Given the description of an element on the screen output the (x, y) to click on. 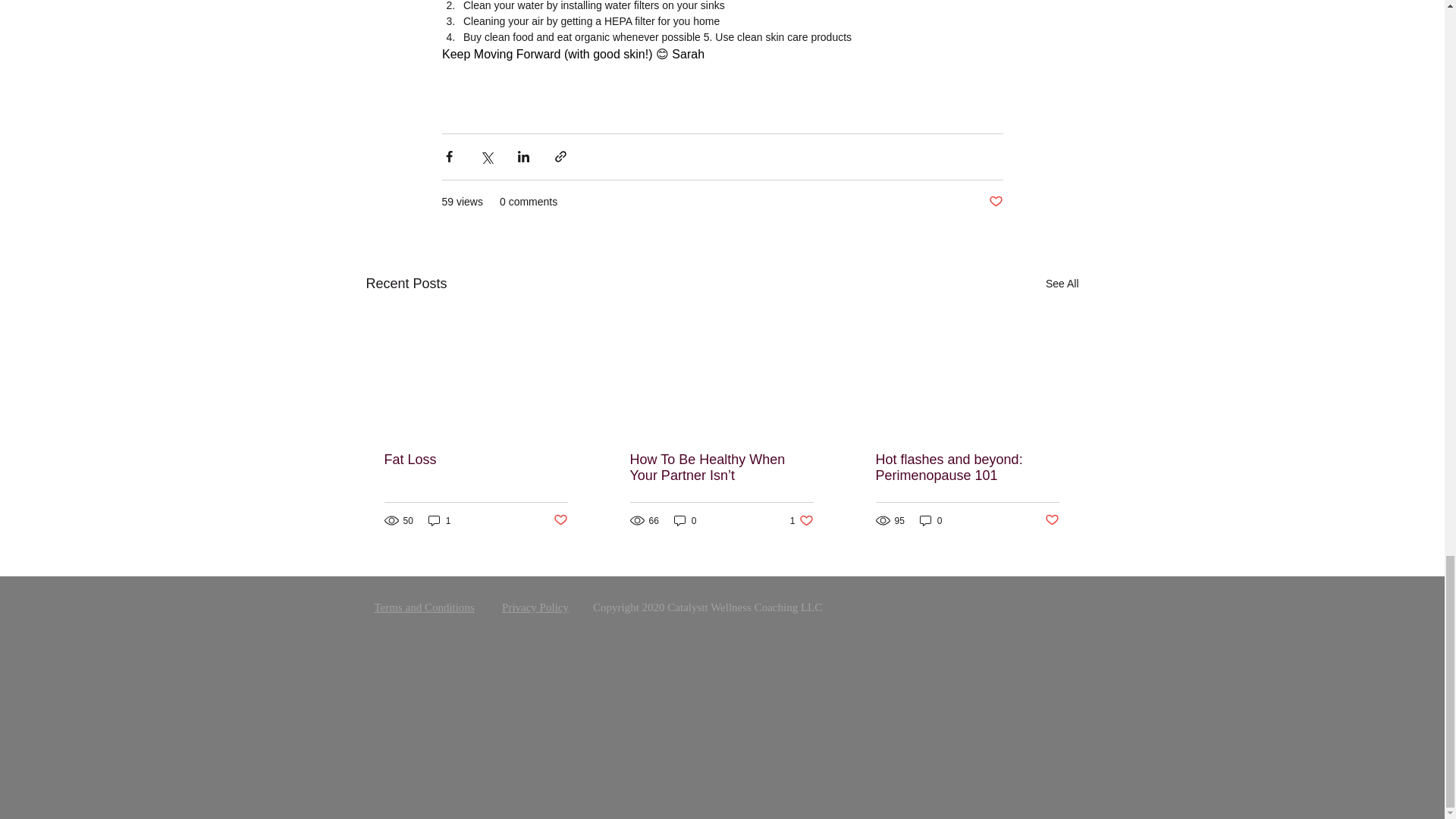
Post not marked as liked (995, 201)
1 (439, 520)
Fat Loss (475, 459)
Post not marked as liked (560, 520)
See All (1061, 283)
